Given the description of an element on the screen output the (x, y) to click on. 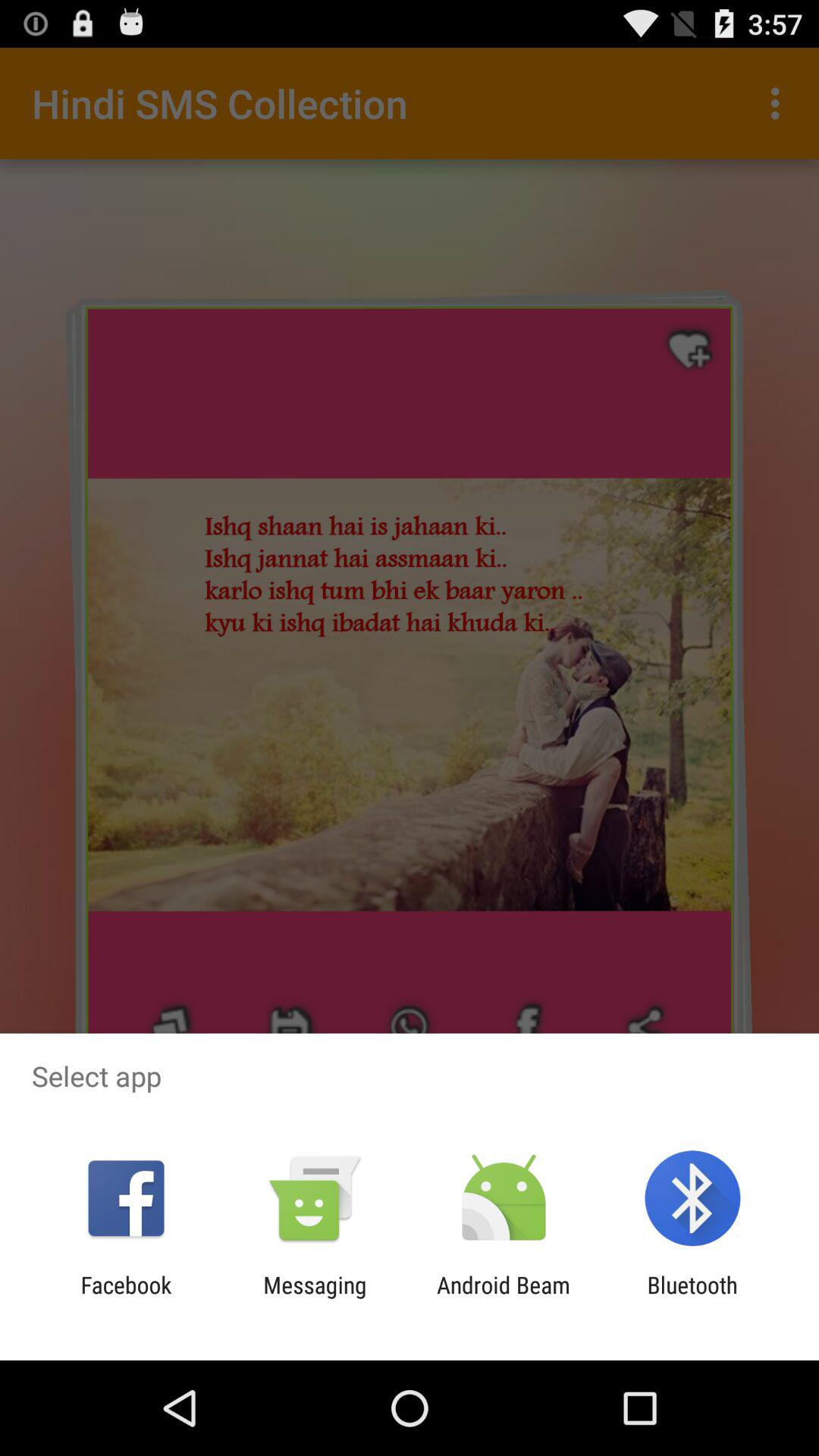
swipe to the facebook item (125, 1298)
